Given the description of an element on the screen output the (x, y) to click on. 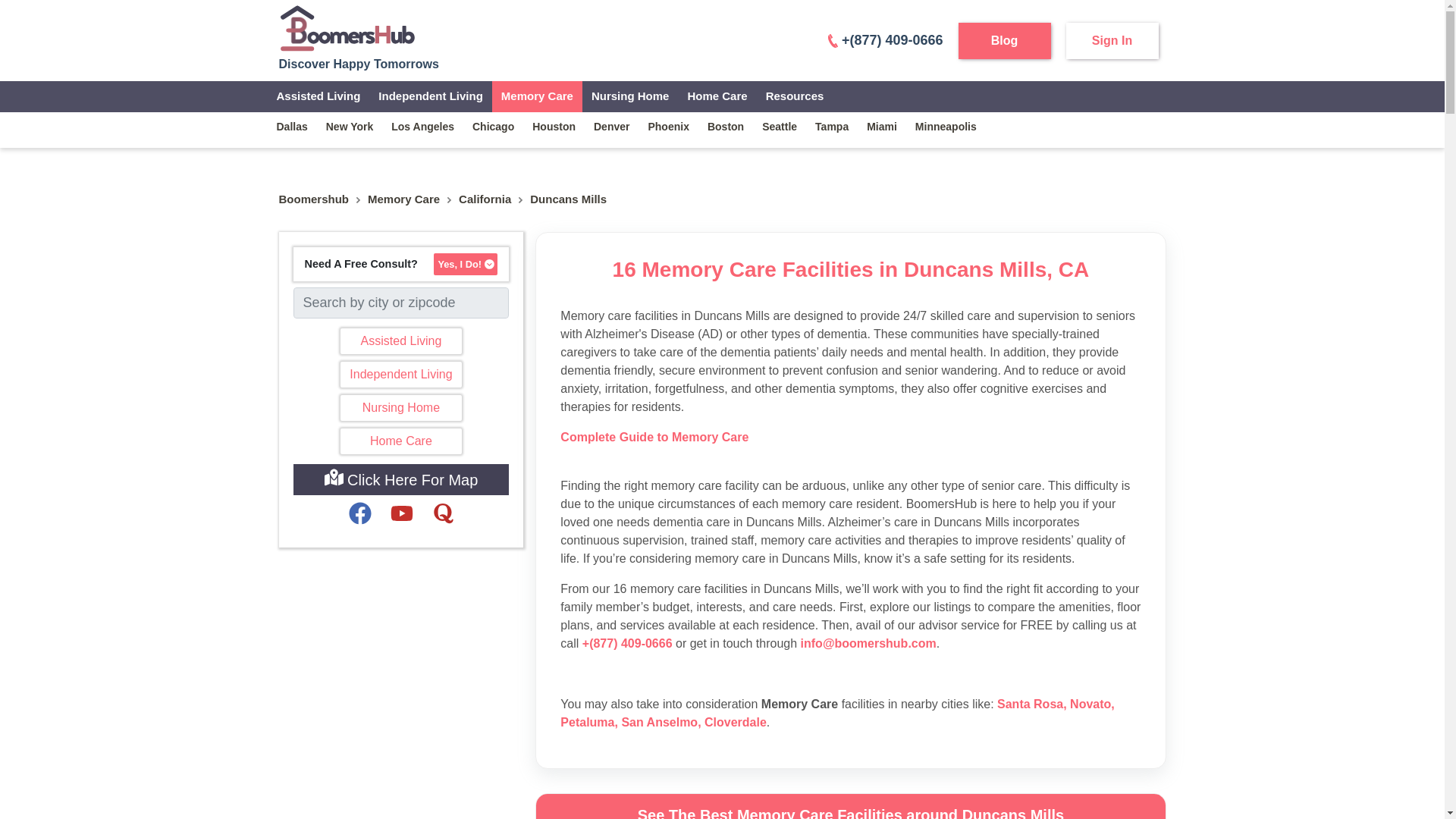
Seattle (779, 126)
Memory Care in Boston, Massachusetts (725, 126)
California (484, 199)
Tampa (831, 126)
Memory Care in Denver, Colorado (612, 126)
Assisted Living (317, 96)
Blog (1004, 40)
Memory Care in Dallas, Texas (290, 126)
Nursing Home in Duncans Mills, California (630, 96)
Assisted Living in Duncans Mills, California (317, 96)
Los Angeles (422, 126)
Boomershub (314, 199)
Minneapolis (945, 126)
Assisted Living (400, 340)
Memory Care in Phoenix, Arizona (668, 126)
